Given the description of an element on the screen output the (x, y) to click on. 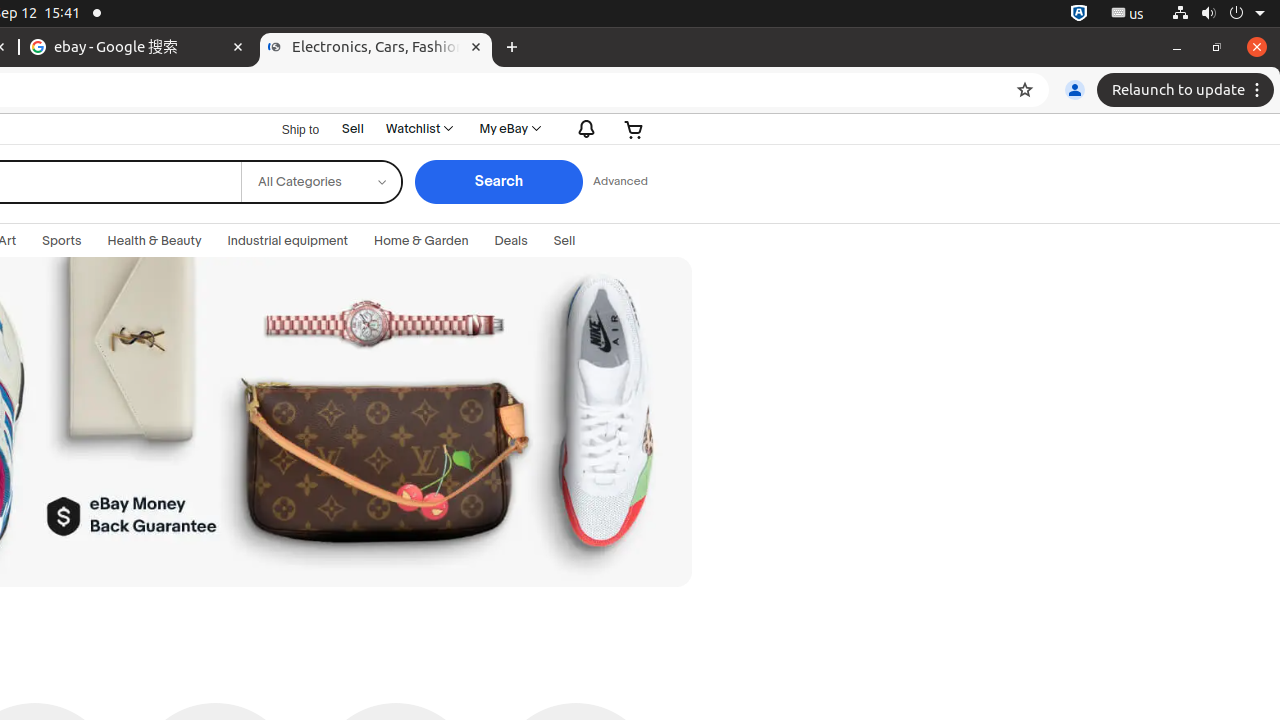
Your shopping cart Element type: link (634, 128)
Advanced Search Element type: link (620, 182)
:1.21/StatusNotifierItem Element type: menu (1127, 13)
Home & Garden Element type: link (421, 241)
System Element type: menu (1218, 13)
